Given the description of an element on the screen output the (x, y) to click on. 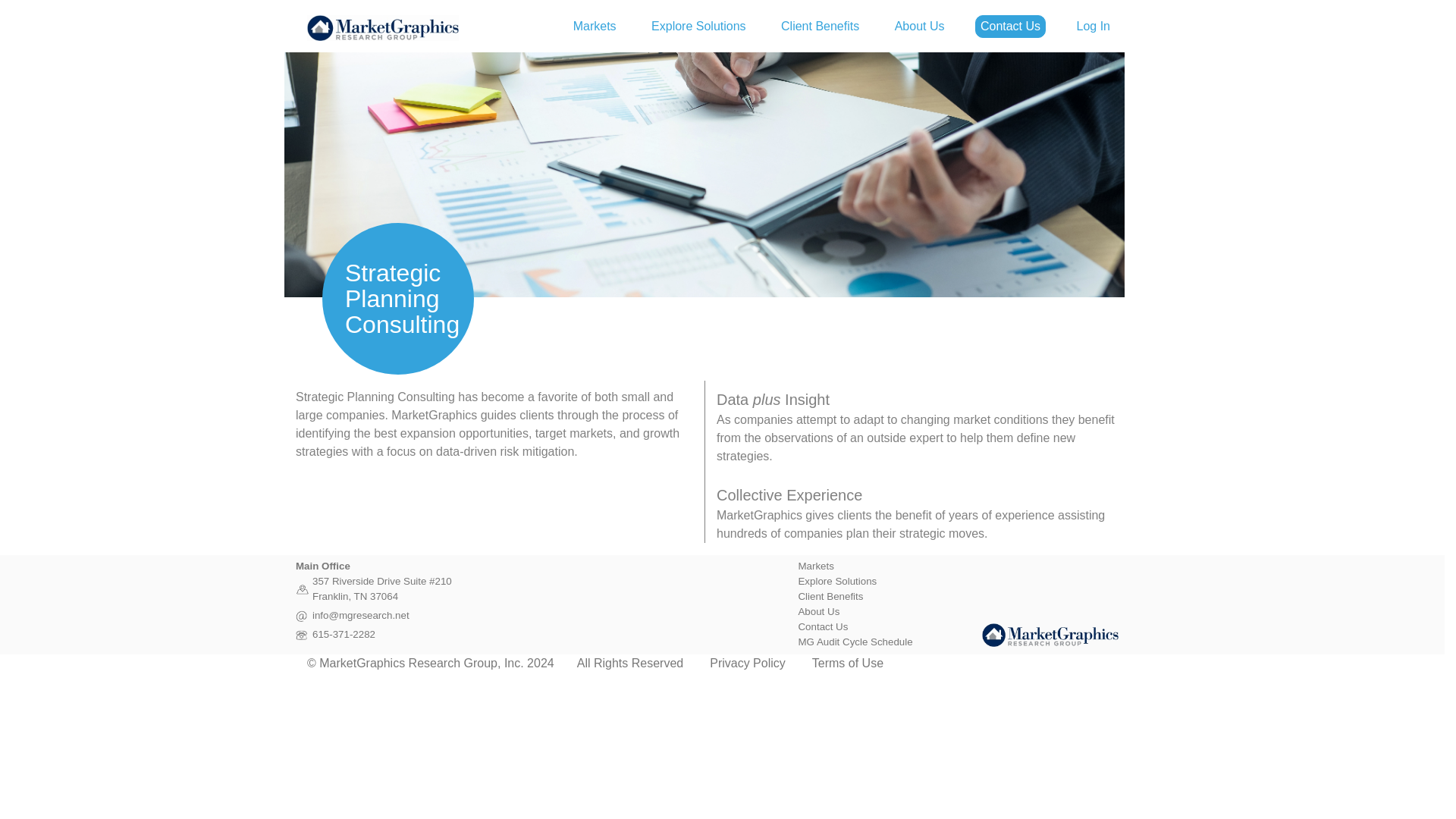
Markets (595, 26)
Client Benefits (830, 595)
Explore Solutions (836, 581)
Terms of Use (847, 662)
Explore Solutions (698, 26)
About Us (919, 26)
About Us (818, 611)
Privacy Policy (748, 662)
Contact Us (1010, 26)
Client Benefits (819, 26)
Markets (814, 565)
Log In (1093, 26)
Contact Us (822, 626)
